Given the description of an element on the screen output the (x, y) to click on. 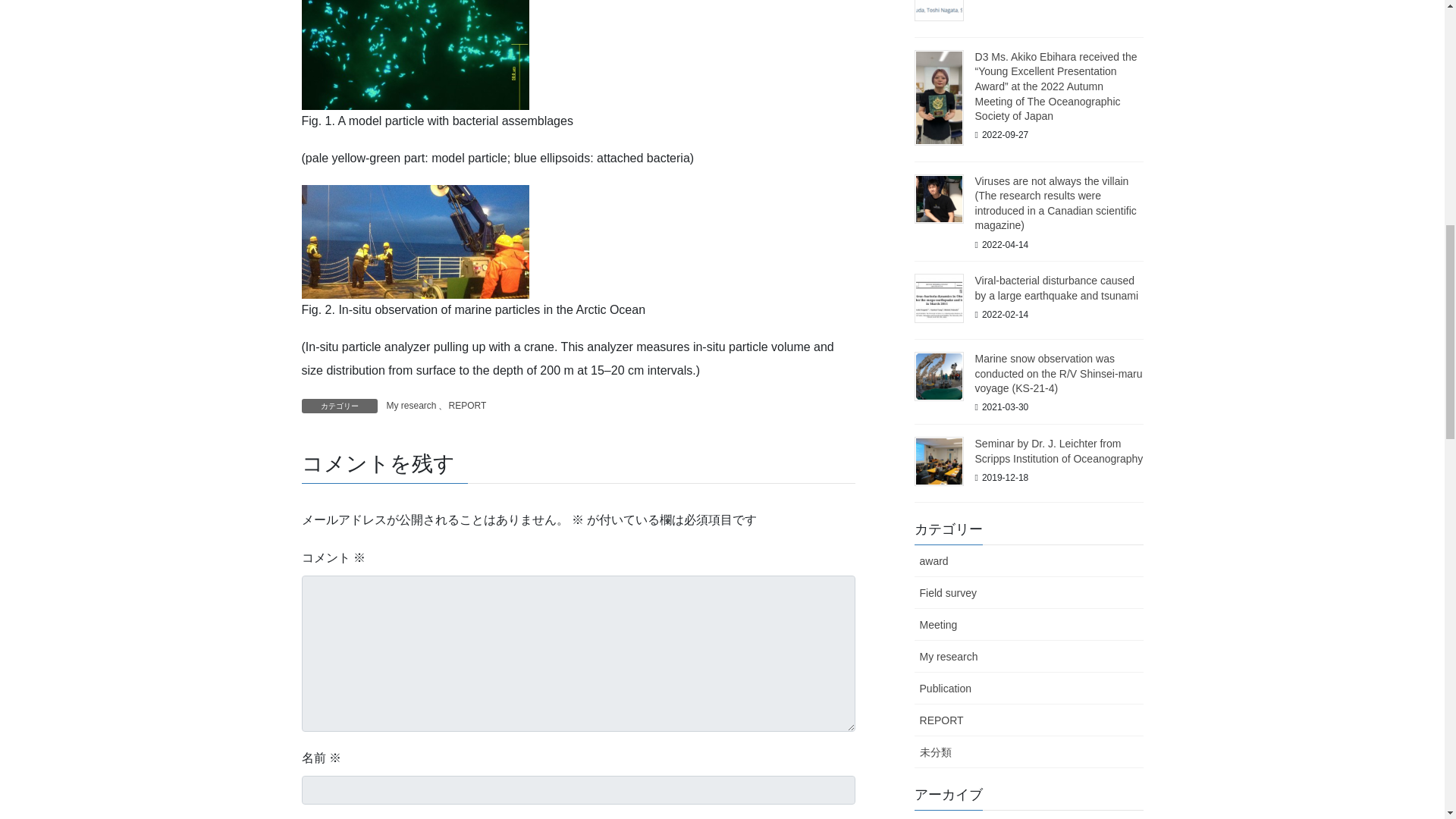
My research (411, 405)
REPORT (466, 405)
